Given the description of an element on the screen output the (x, y) to click on. 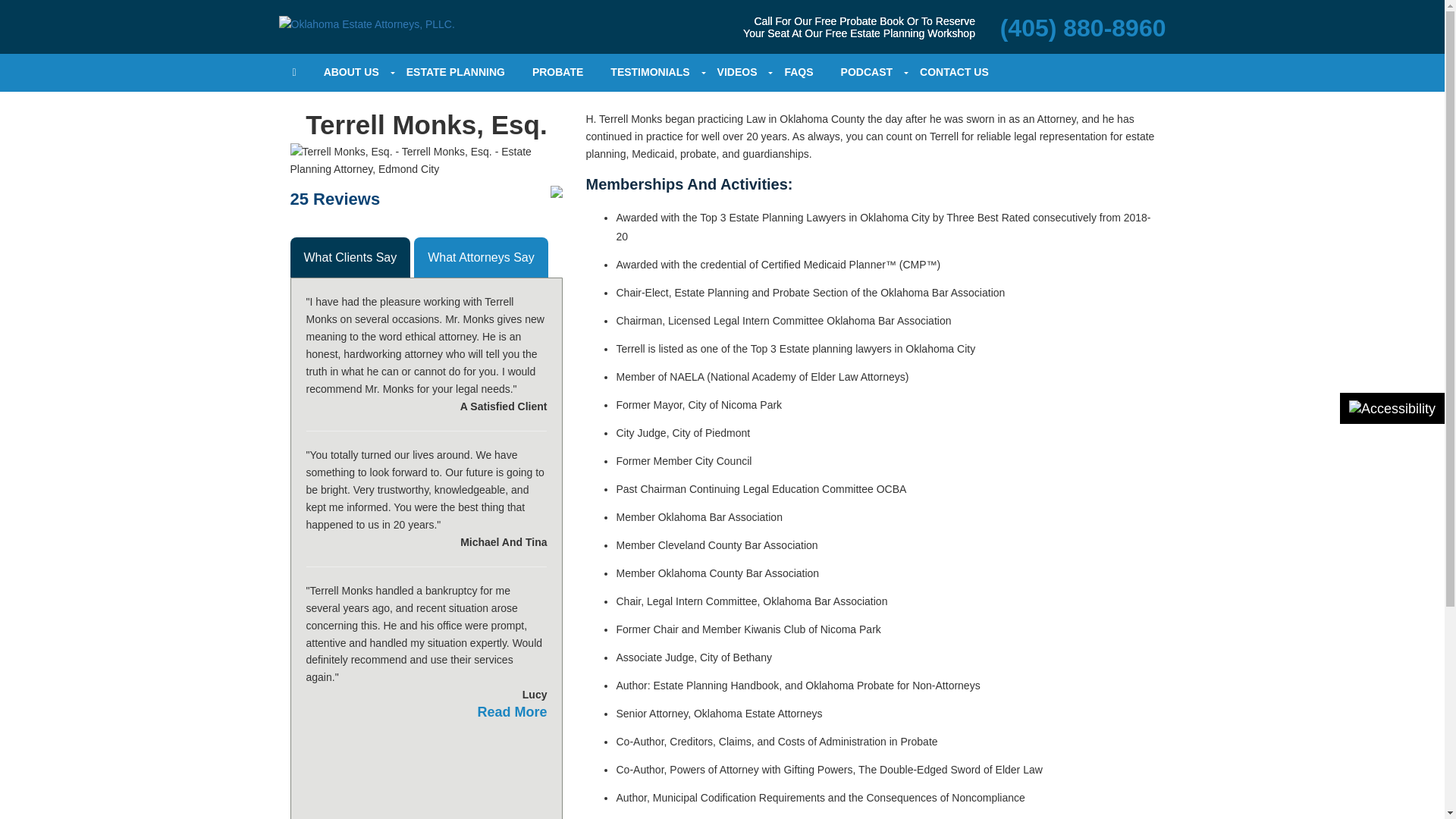
VIDEOS (737, 72)
TESTIMONIALS (649, 72)
Read More (512, 712)
ABOUT US (351, 72)
What Attorneys Say (480, 257)
What Clients Say (349, 257)
PODCAST (866, 72)
FAQS (798, 72)
ESTATE PLANNING (455, 72)
CONTACT US (954, 72)
PROBATE (557, 72)
